Given the description of an element on the screen output the (x, y) to click on. 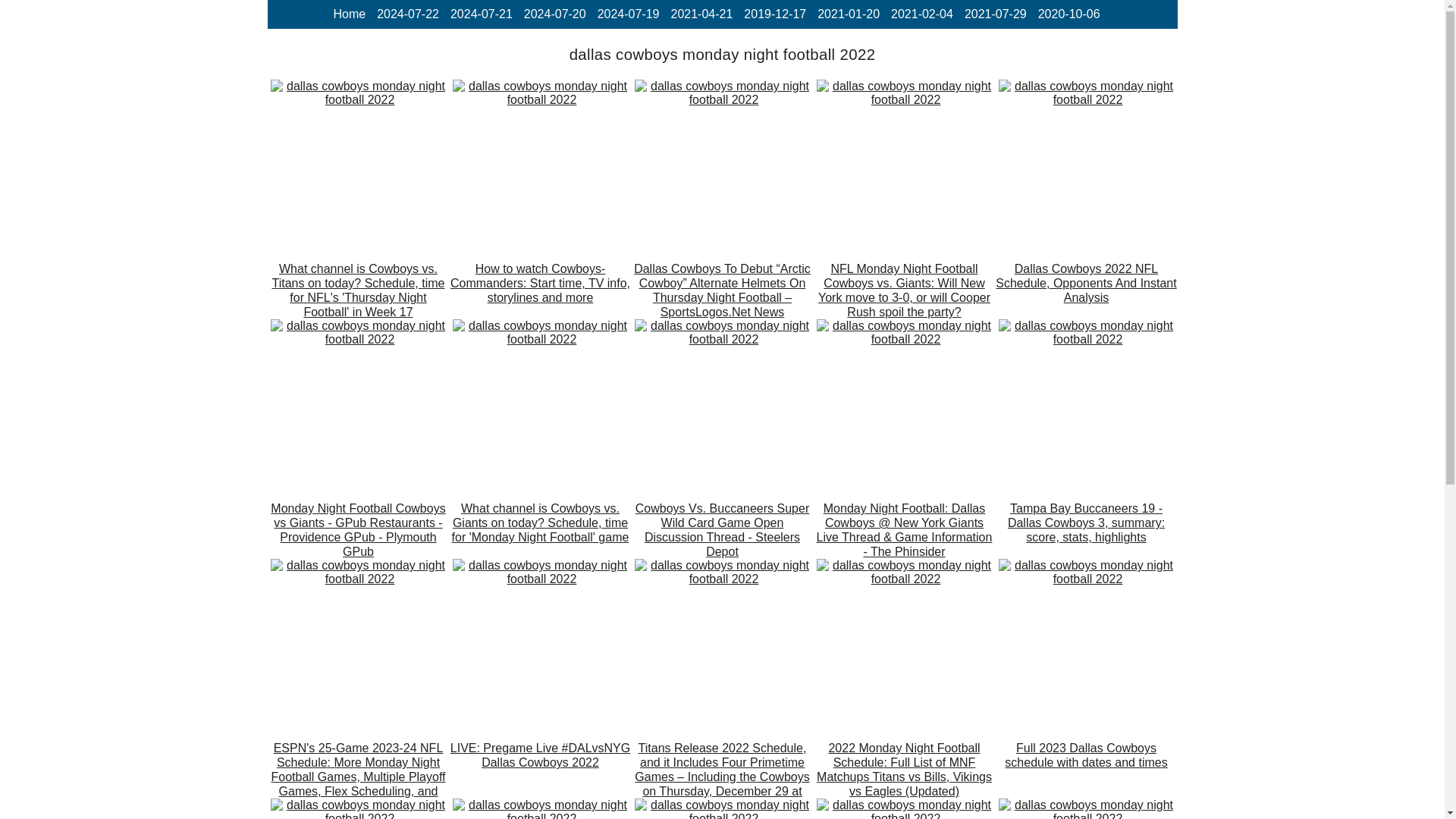
2024-07-20 (555, 13)
2021-01-20 (847, 13)
2024-07-19 (627, 13)
2021-04-21 (700, 13)
2024-07-21 (480, 13)
2019-12-17 (775, 13)
2024-07-22 (408, 13)
